Given the description of an element on the screen output the (x, y) to click on. 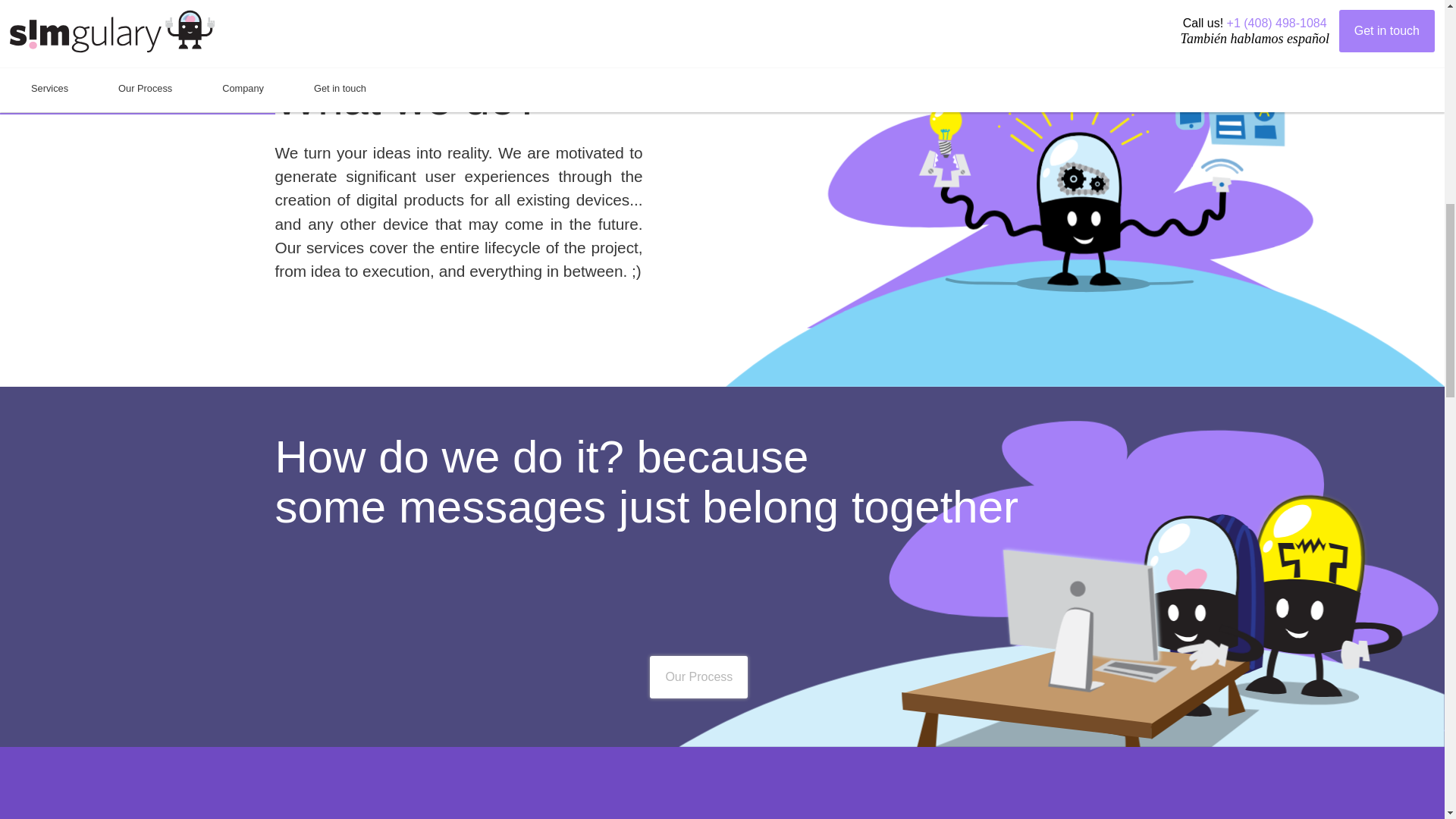
Our Process (698, 677)
